Given the description of an element on the screen output the (x, y) to click on. 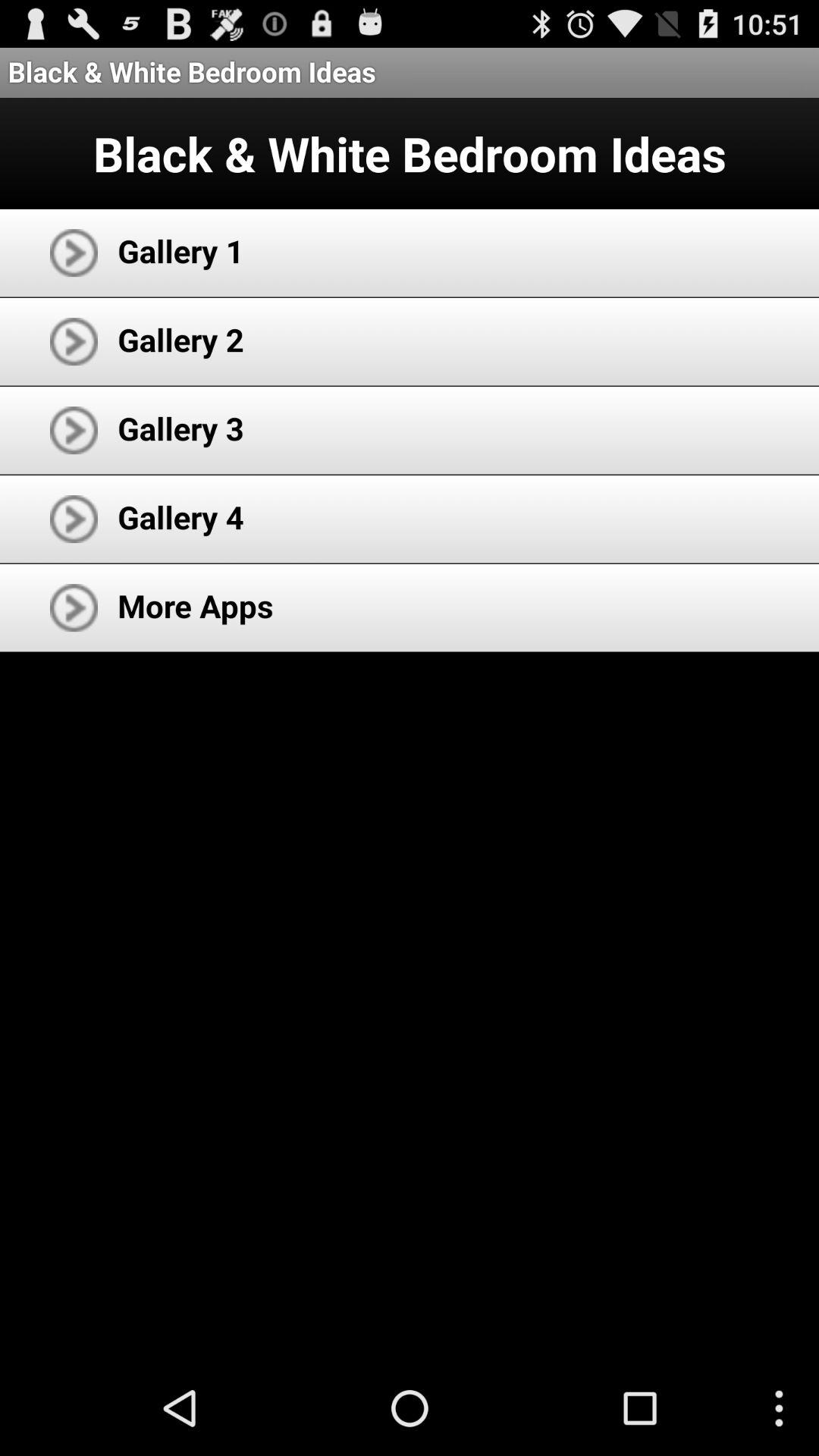
select the app above the gallery 3 app (180, 339)
